Given the description of an element on the screen output the (x, y) to click on. 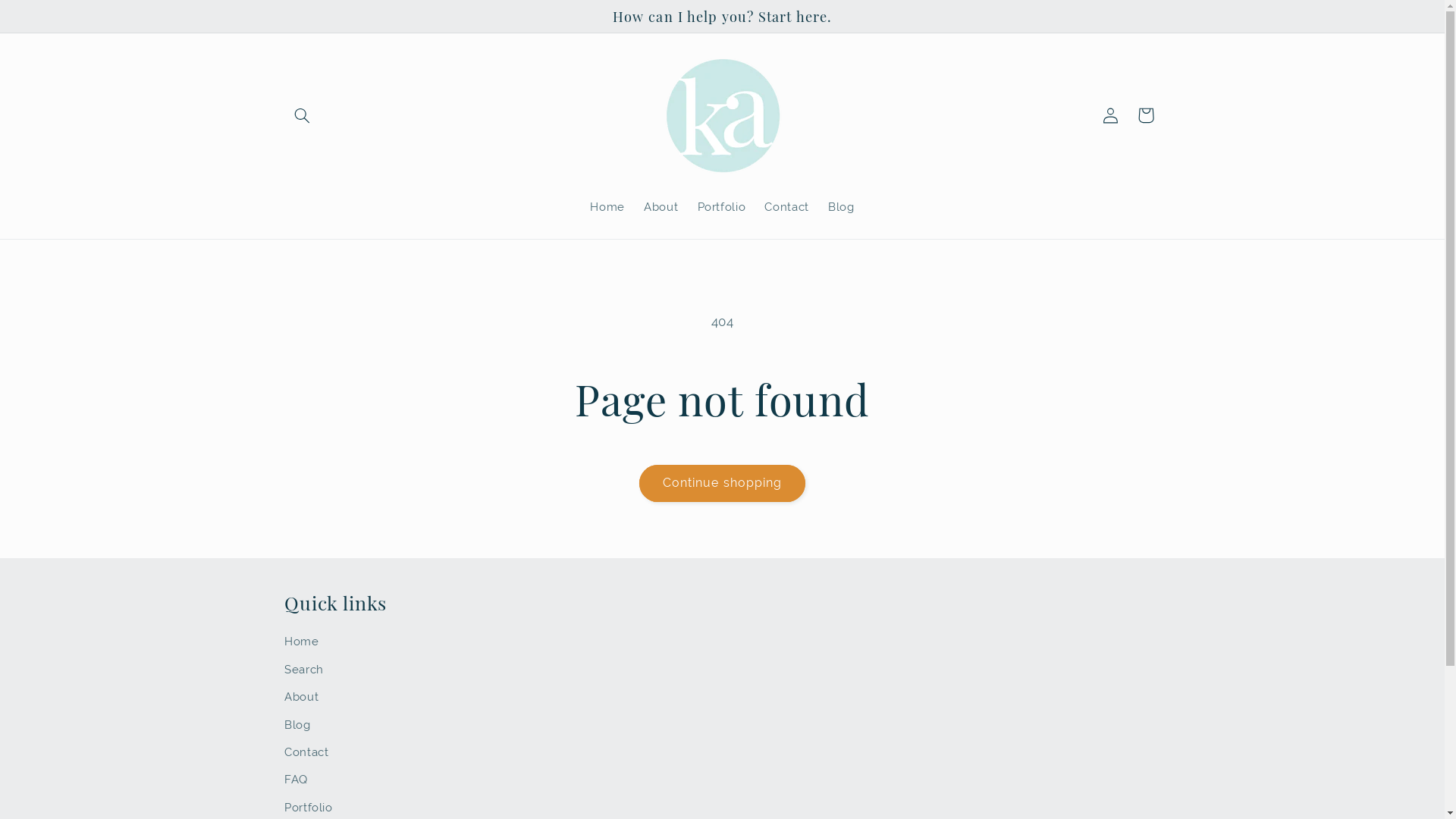
Portfolio Element type: text (721, 206)
Home Element type: text (301, 643)
About Element type: text (660, 206)
Blog Element type: text (840, 206)
Blog Element type: text (297, 723)
Log in Element type: text (1110, 114)
About Element type: text (301, 696)
Contact Element type: text (787, 206)
Cart Element type: text (1145, 114)
Search Element type: text (303, 669)
Home Element type: text (607, 206)
Contact Element type: text (306, 751)
FAQ Element type: text (295, 779)
Continue shopping Element type: text (722, 483)
